Given the description of an element on the screen output the (x, y) to click on. 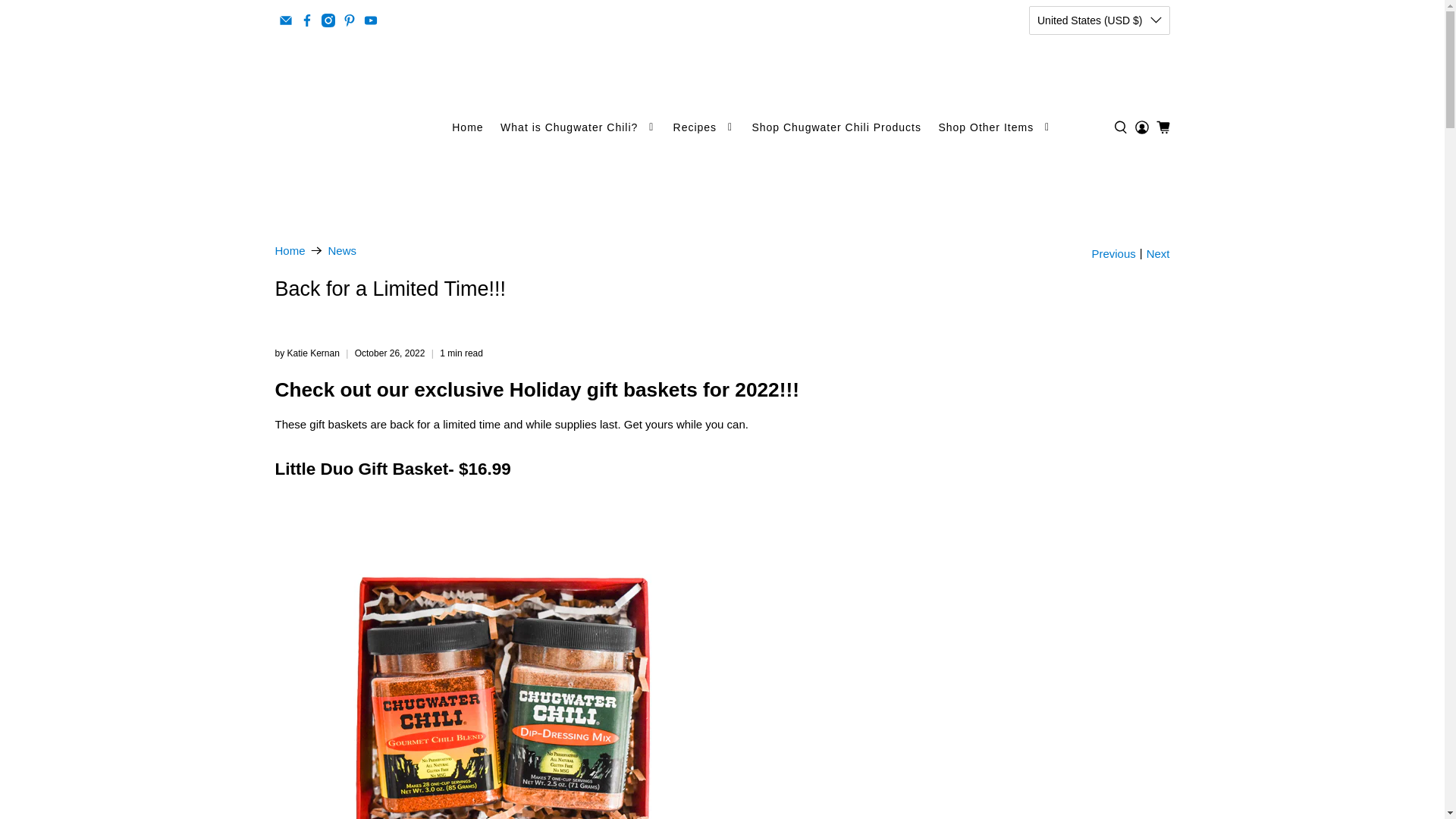
AW (1093, 338)
BT (1093, 732)
Previous (1112, 253)
AF (1093, 53)
AR (1093, 284)
AT (1093, 432)
Chugwater Chili on Instagram (327, 20)
BM (1093, 705)
BS (1093, 487)
AL (1093, 108)
